Given the description of an element on the screen output the (x, y) to click on. 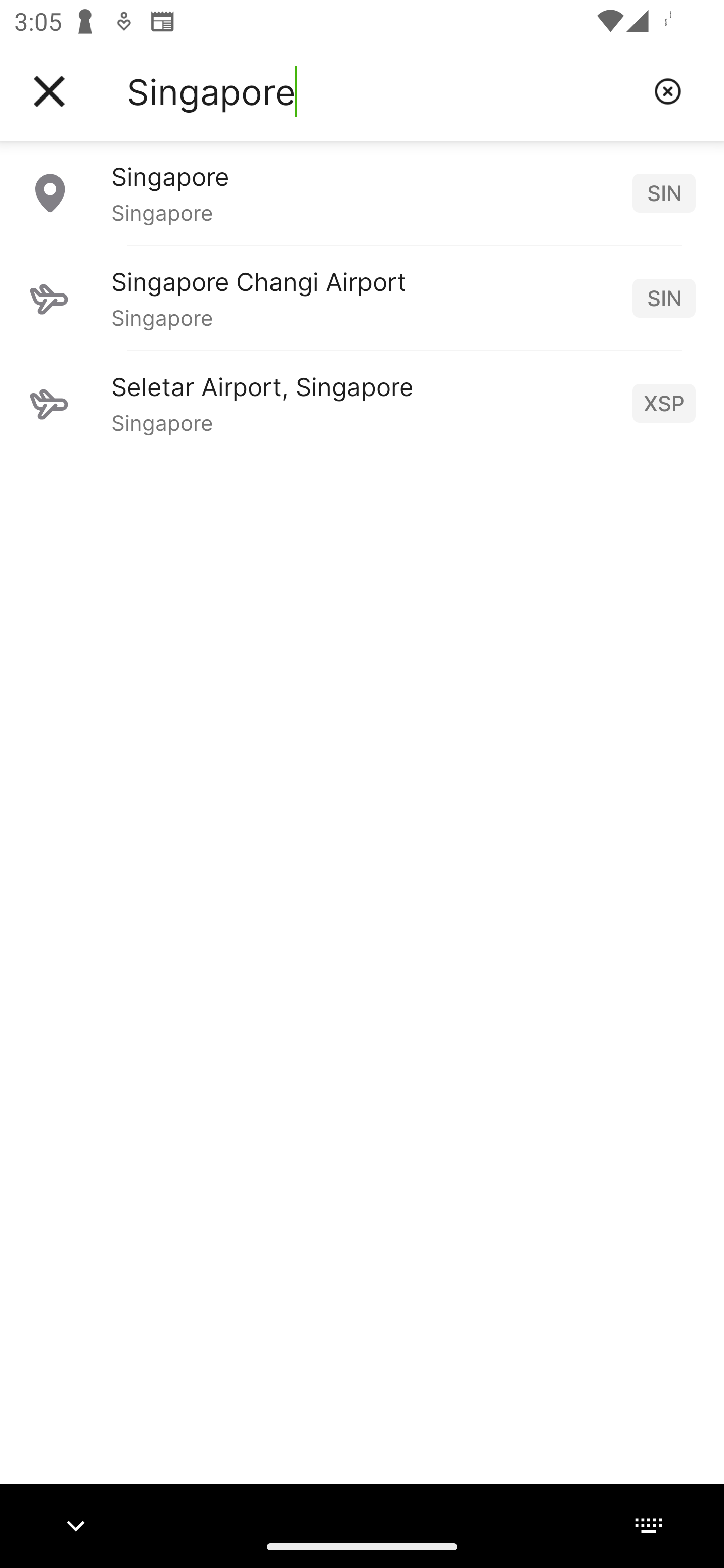
Singapore (382, 91)
Singapore Singapore SIN (362, 192)
Singapore Changi Airport Singapore SIN (362, 297)
Seletar Airport, Singapore Singapore XSP (362, 402)
